Given the description of an element on the screen output the (x, y) to click on. 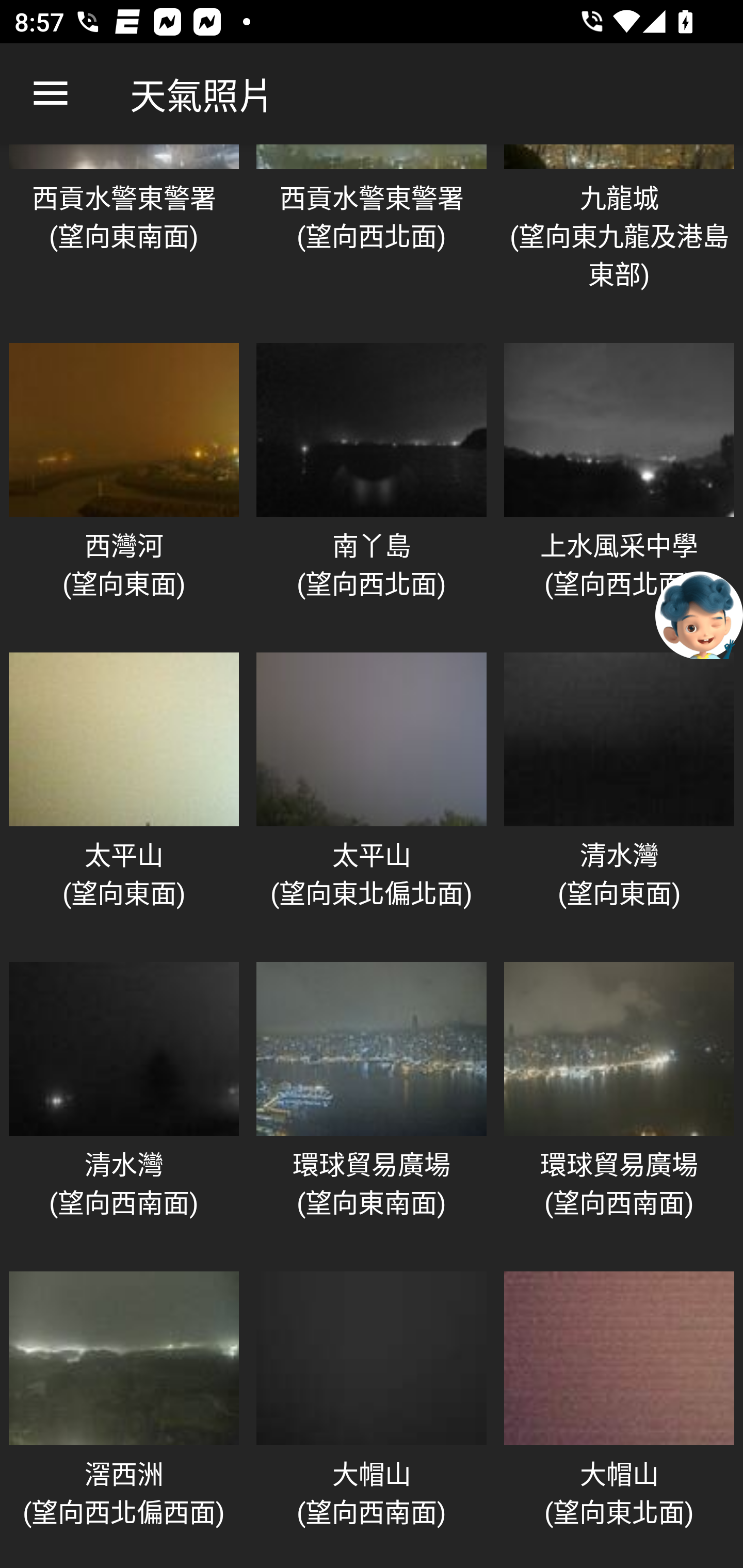
向上瀏覽 (50, 93)
西貢水警東警署
(望向東南面) (123, 237)
西貢水警東警署
(望向西北面) (371, 237)
九龍城
(望向東九龍及港島東部) (619, 237)
西灣河
(望向東面) (123, 486)
南丫島
(望向西北面) (371, 486)
上水風采中學
(望向西北面) (619, 486)
聊天機械人 (699, 614)
太平山
(望向東面) (123, 796)
太平山
(望向東北偏北面) (371, 796)
清水灣
(望向東面) (619, 796)
清水灣
(望向西南面) (123, 1106)
環球貿易廣場
(望向東南面) (371, 1106)
環球貿易廣場
(望向西南面) (619, 1106)
滘西洲
(望向西北偏西面) (123, 1415)
大帽山
(望向西南面) (371, 1415)
大帽山
(望向東北面) (619, 1415)
